Given the description of an element on the screen output the (x, y) to click on. 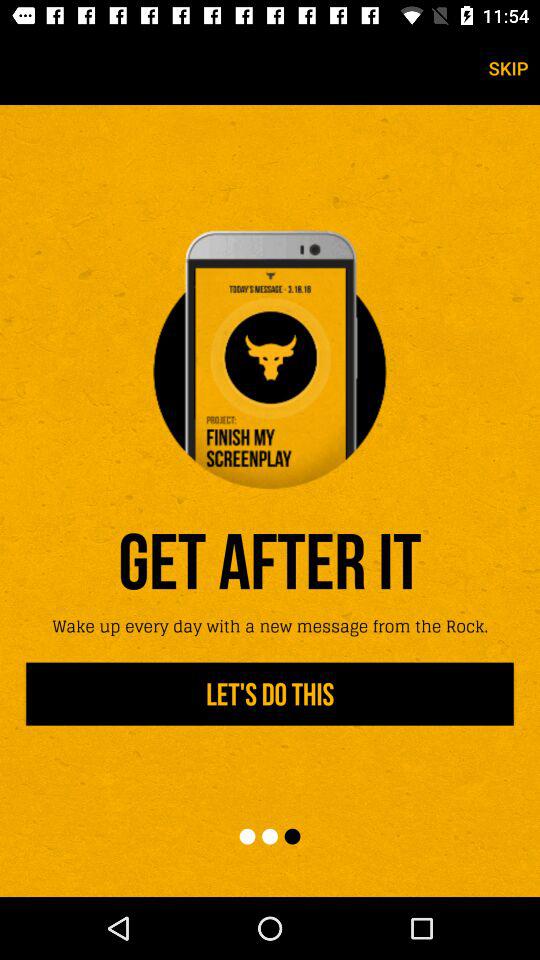
swipe until the skip icon (508, 67)
